Given the description of an element on the screen output the (x, y) to click on. 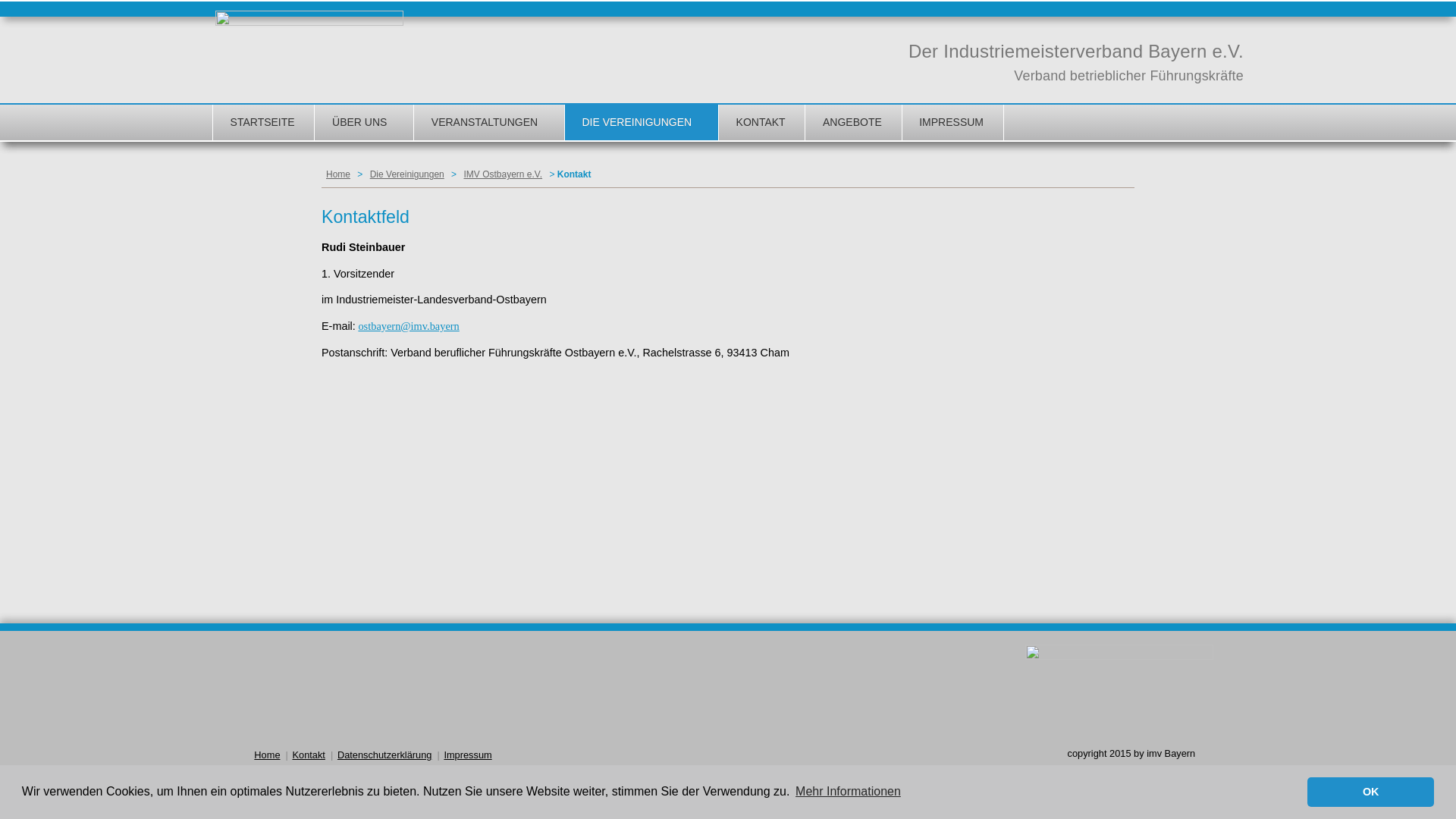
ostbayern@imv.bayern Element type: text (407, 326)
STARTSEITE Element type: text (262, 122)
Home Element type: text (338, 174)
Mehr Informationen Element type: text (848, 791)
IMPRESSUM Element type: text (951, 122)
Die Vereinigungen Element type: text (407, 174)
OK Element type: text (1370, 791)
DIE VEREINIGUNGEN Element type: text (639, 122)
VERANSTALTUNGEN Element type: text (487, 122)
Home Element type: text (266, 754)
KONTAKT Element type: text (760, 122)
Kontakt Element type: text (308, 754)
IMV Ostbayern e.V. Element type: text (502, 174)
Impressum Element type: text (467, 754)
ANGEBOTE Element type: text (851, 122)
